Given the description of an element on the screen output the (x, y) to click on. 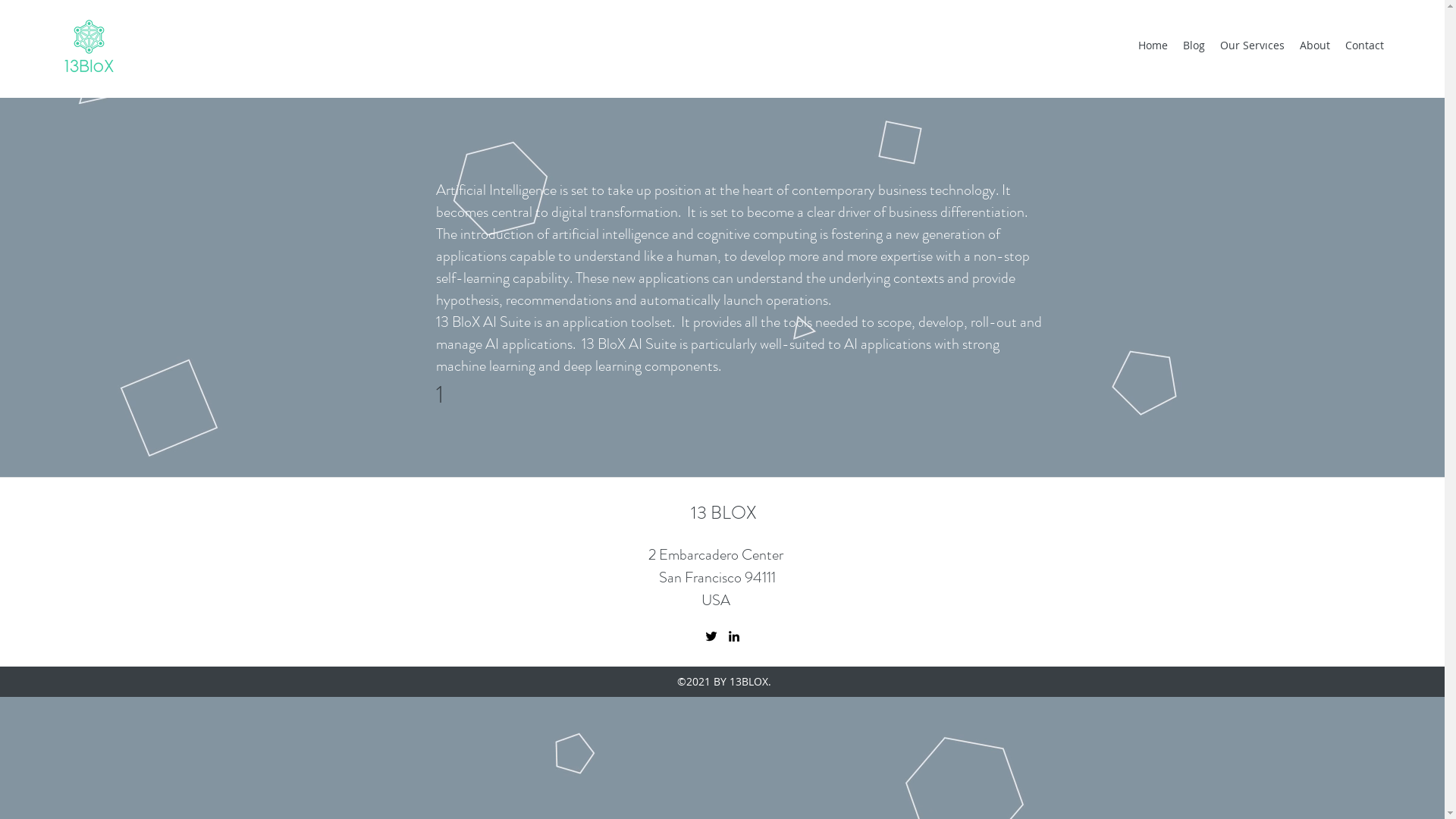
Contact Element type: text (1364, 45)
About Element type: text (1314, 45)
Home Element type: text (1152, 45)
Blog Element type: text (1193, 45)
